Given the description of an element on the screen output the (x, y) to click on. 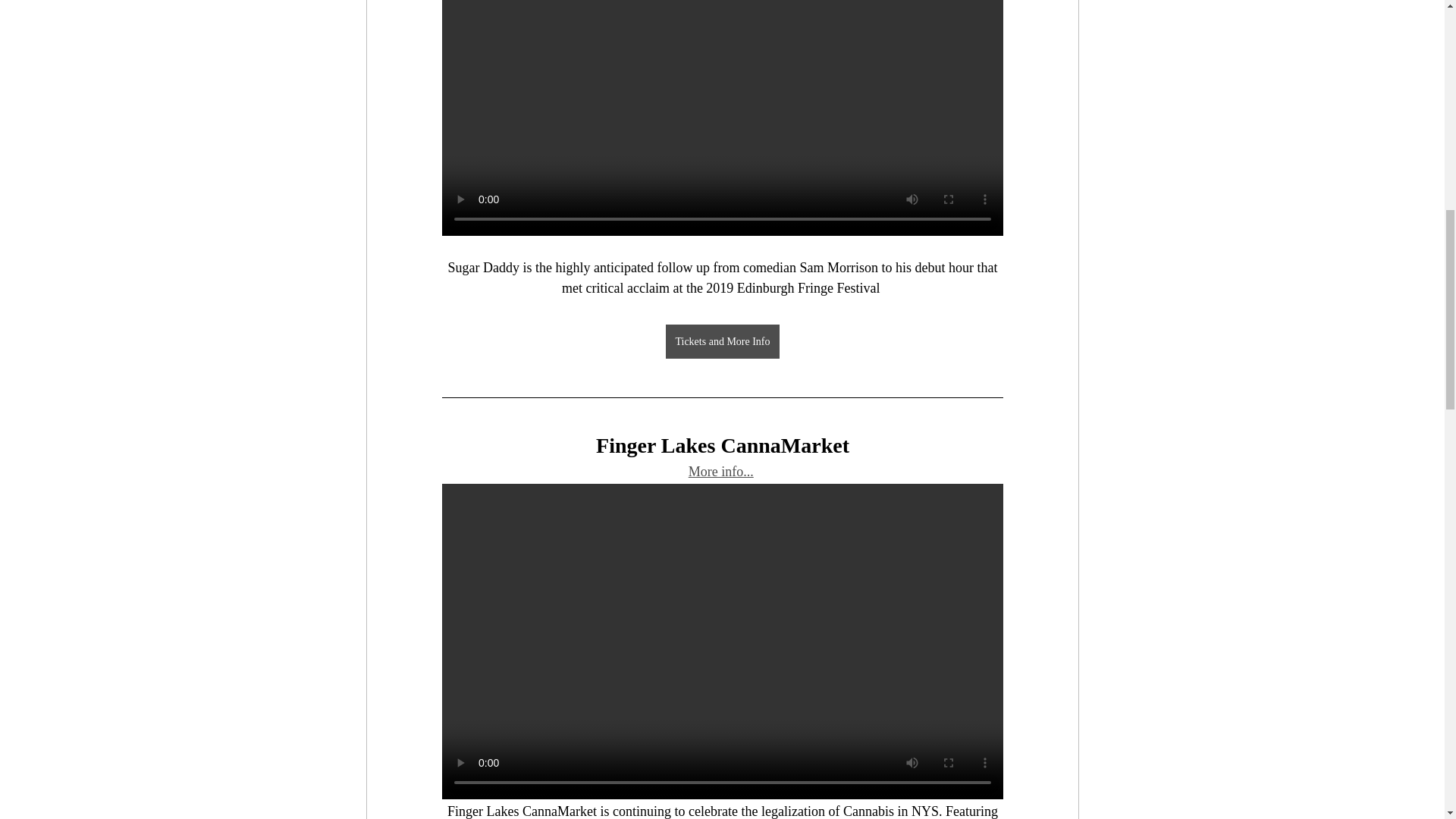
More info... (719, 471)
Tickets and More Info (721, 341)
